Given the description of an element on the screen output the (x, y) to click on. 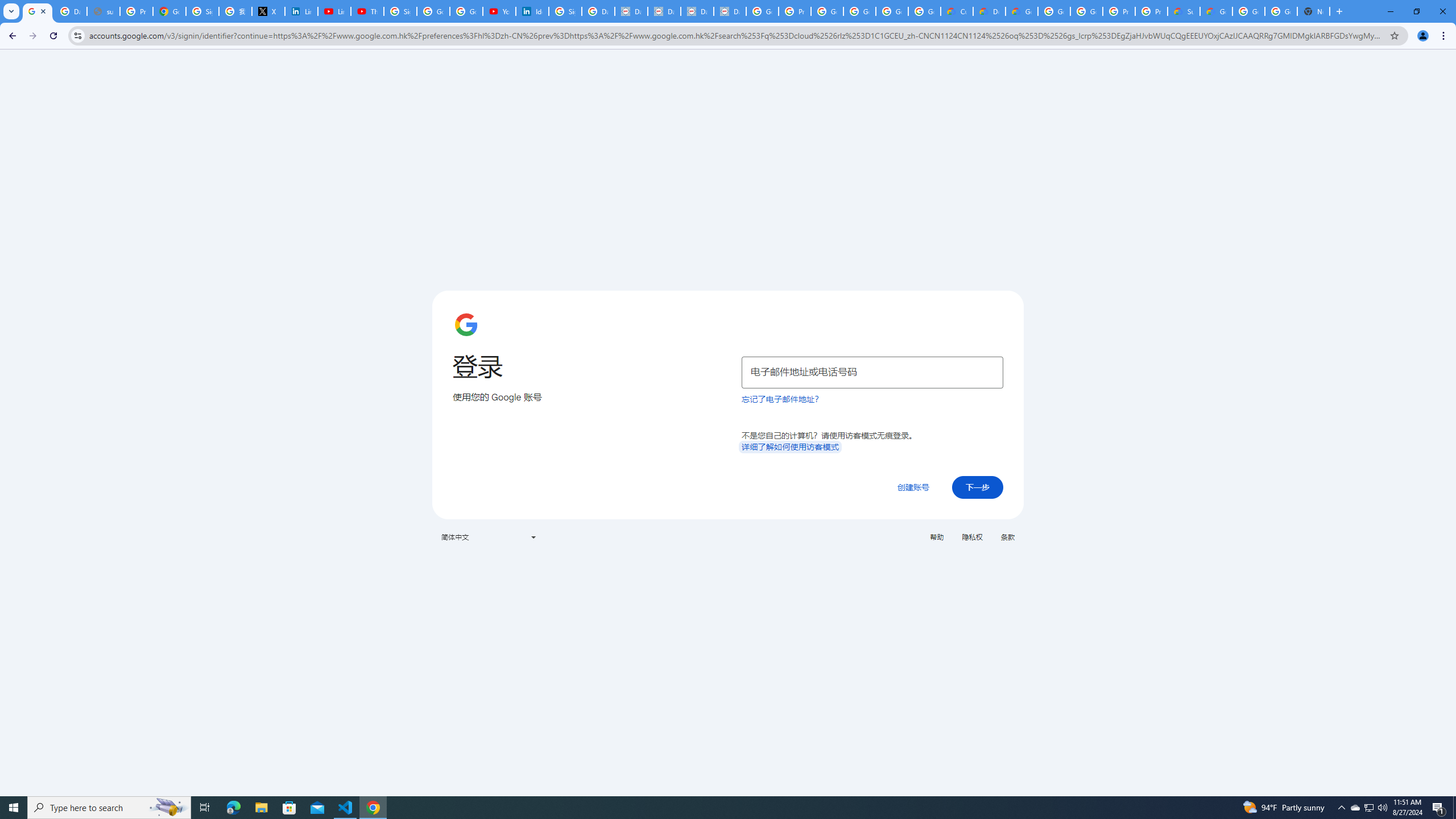
X (268, 11)
Data Privacy Framework (631, 11)
Sign in - Google Accounts (202, 11)
Google Cloud Platform (1086, 11)
